Given the description of an element on the screen output the (x, y) to click on. 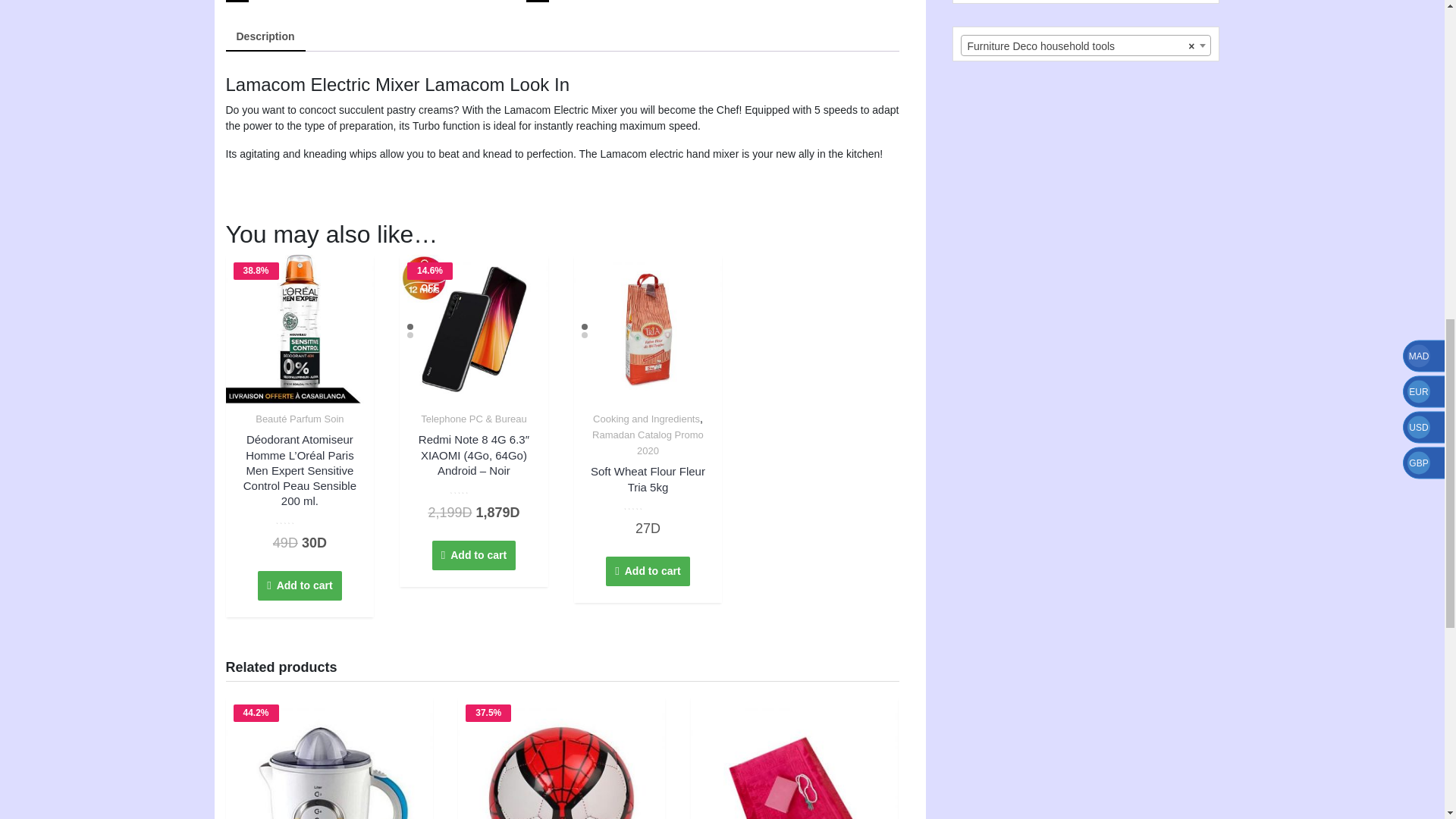
Add to cart (647, 498)
Cooking and Ingredients (646, 571)
Ramadan Catalog Promo 2020 (646, 419)
Add to cart (647, 442)
Add to cart (298, 585)
Description (473, 555)
